Given the description of an element on the screen output the (x, y) to click on. 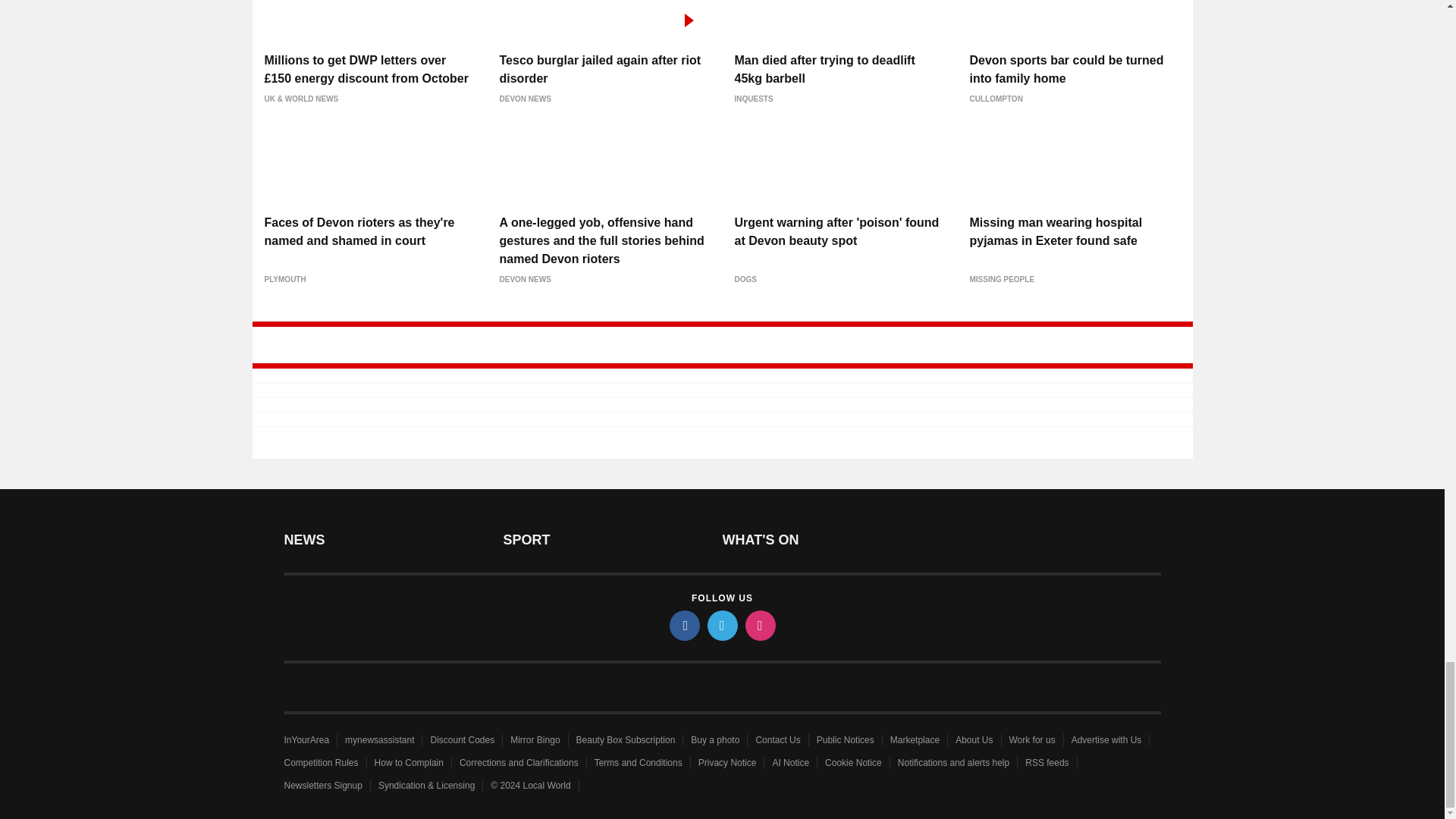
facebook (683, 625)
twitter (721, 625)
instagram (759, 625)
